Given the description of an element on the screen output the (x, y) to click on. 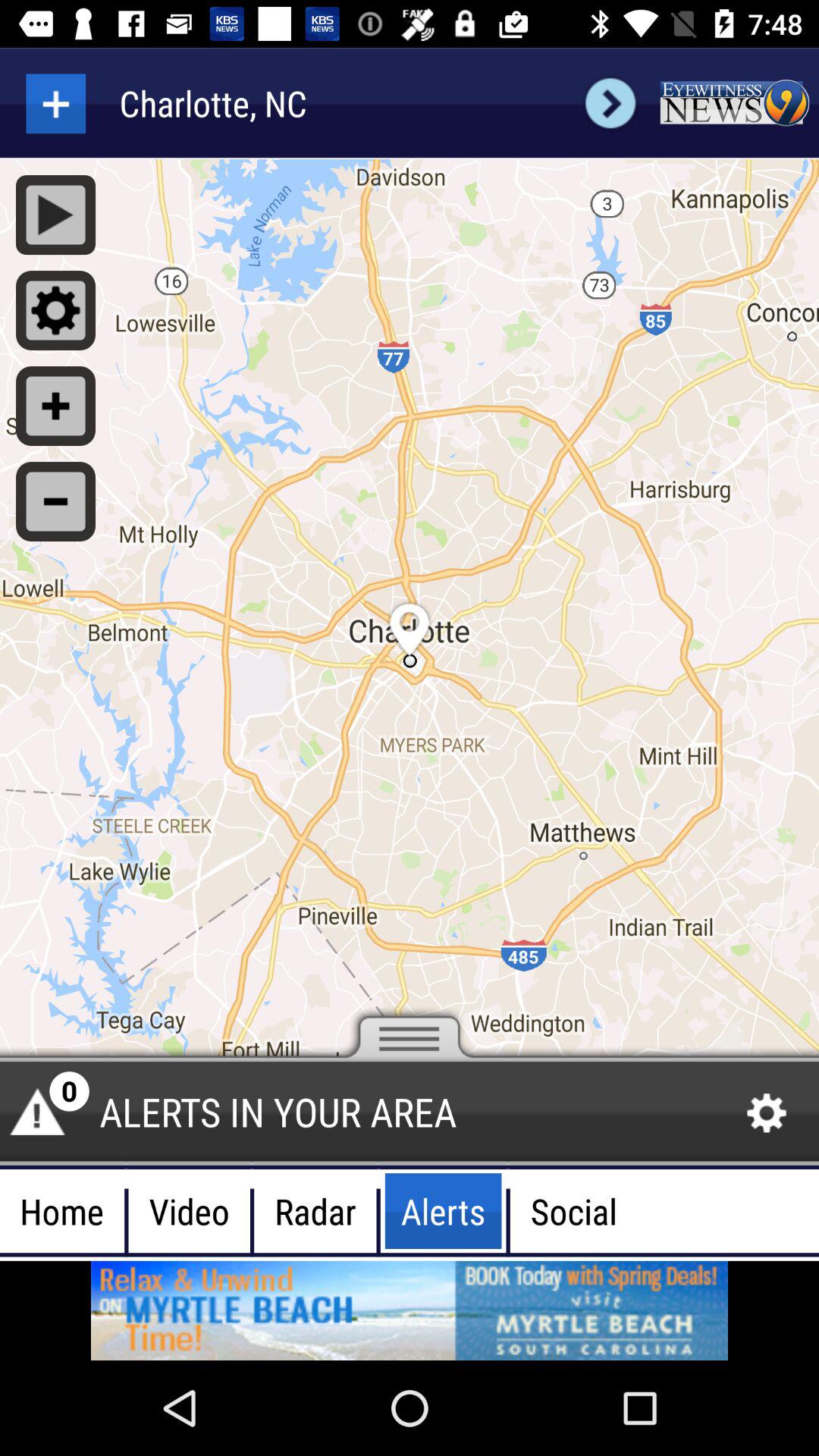
advertisement (734, 103)
